Given the description of an element on the screen output the (x, y) to click on. 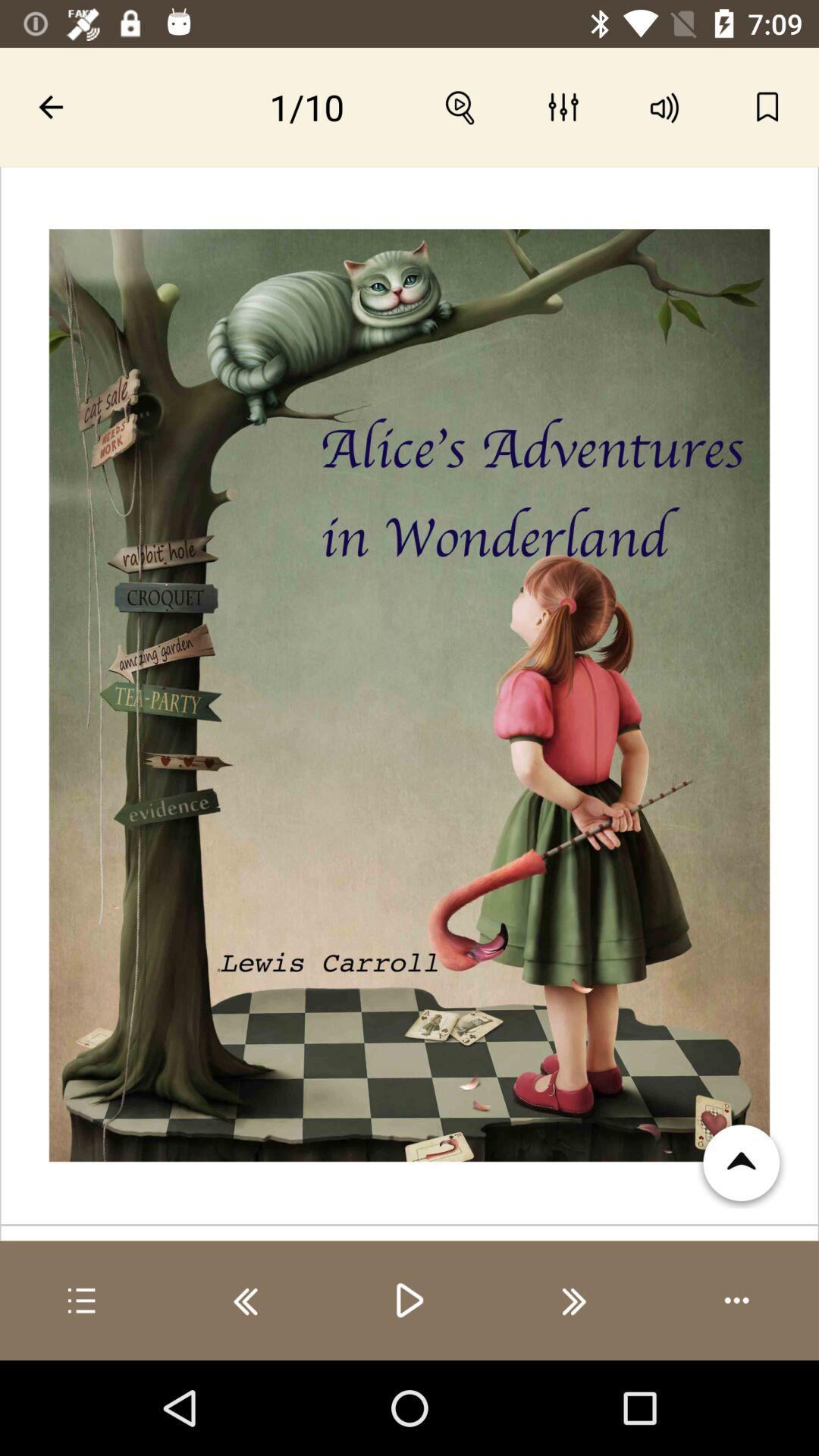
open menu (81, 1300)
